Given the description of an element on the screen output the (x, y) to click on. 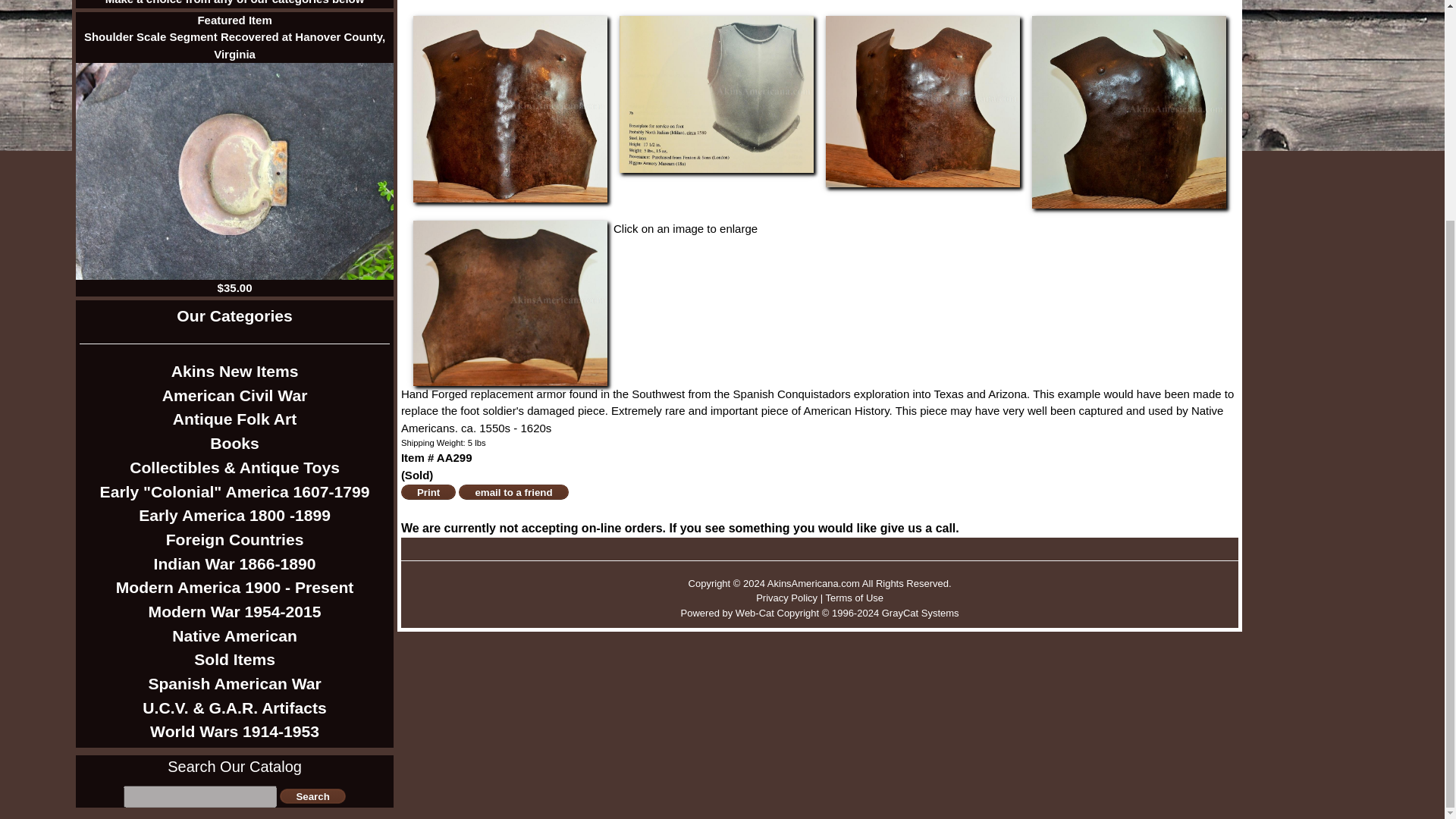
Enter your search phrase (199, 796)
Modern America 1900 - Present (235, 587)
Click to see our items from Indian War 1866-1890 (235, 564)
Click to see our items from World Wars 1914-1953 (235, 731)
email to a friend (512, 491)
Click to see our items from Spanish American War (235, 683)
Books (235, 443)
Terms of Use (854, 597)
American Civil War (235, 395)
Click to see our items from Modern War 1954-2015 (235, 611)
